Given the description of an element on the screen output the (x, y) to click on. 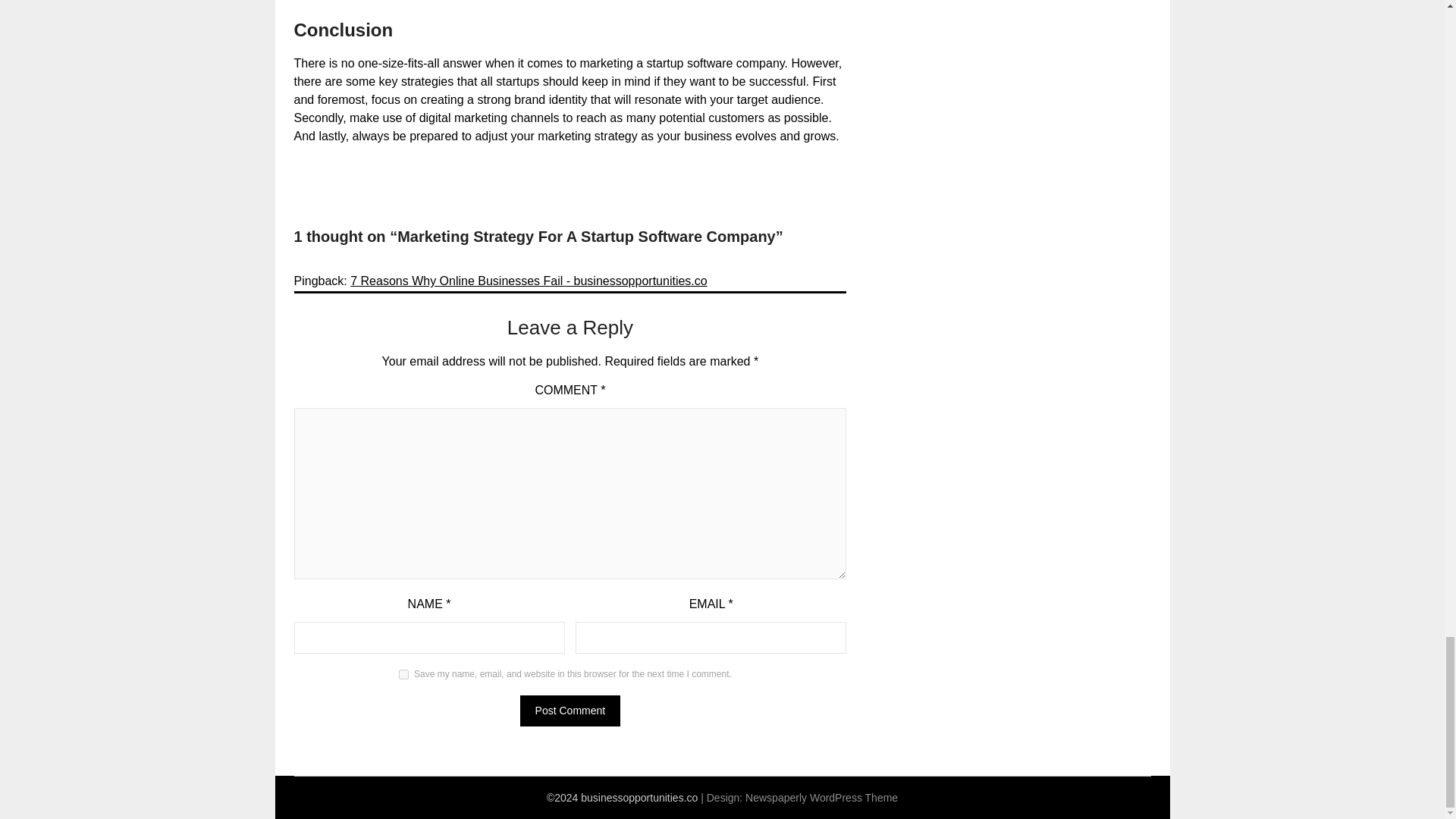
yes (403, 674)
Post Comment (570, 710)
Post Comment (570, 710)
